Given the description of an element on the screen output the (x, y) to click on. 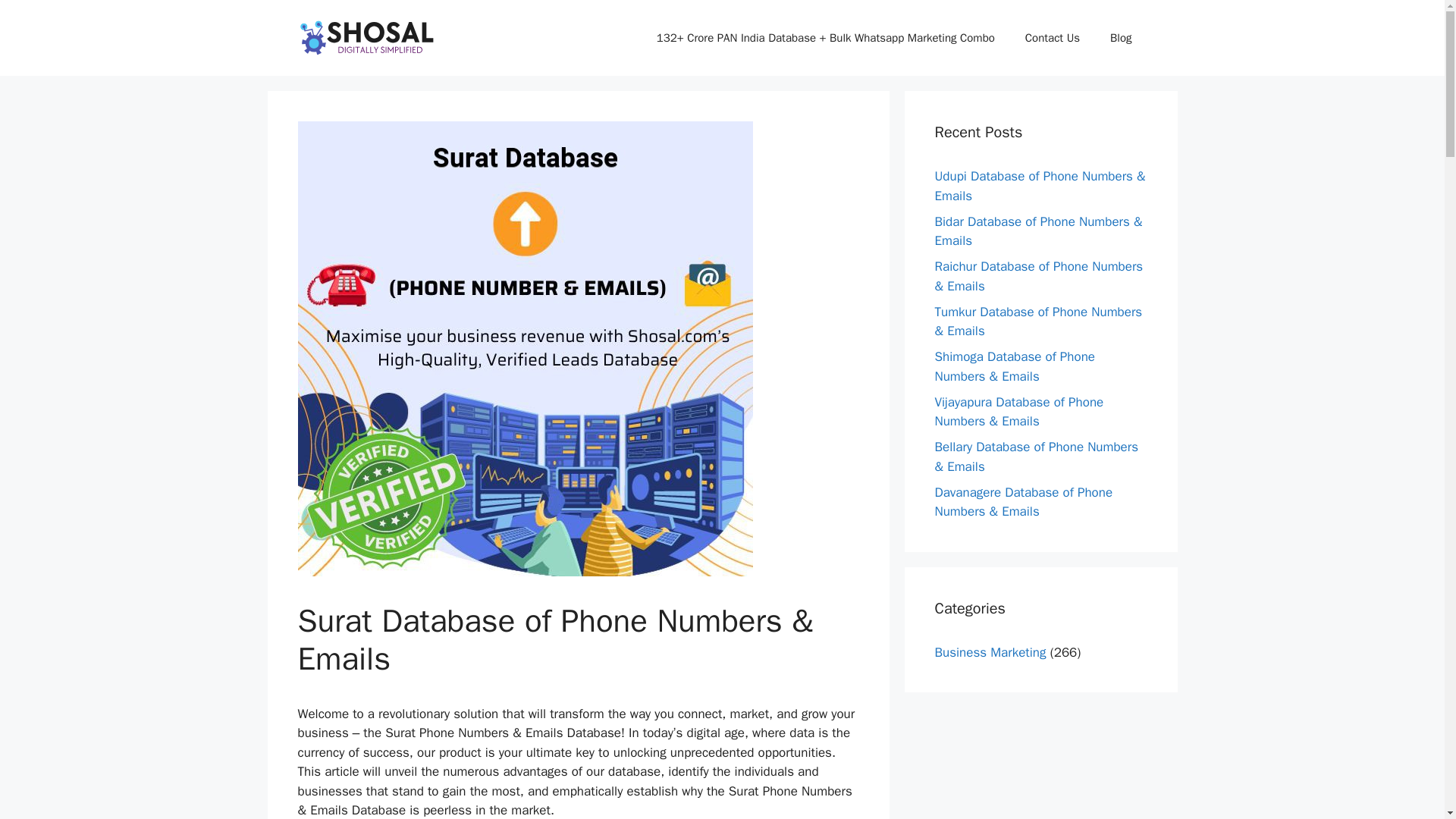
Contact Us (1052, 37)
Business Marketing (989, 652)
Blog (1120, 37)
